Given the description of an element on the screen output the (x, y) to click on. 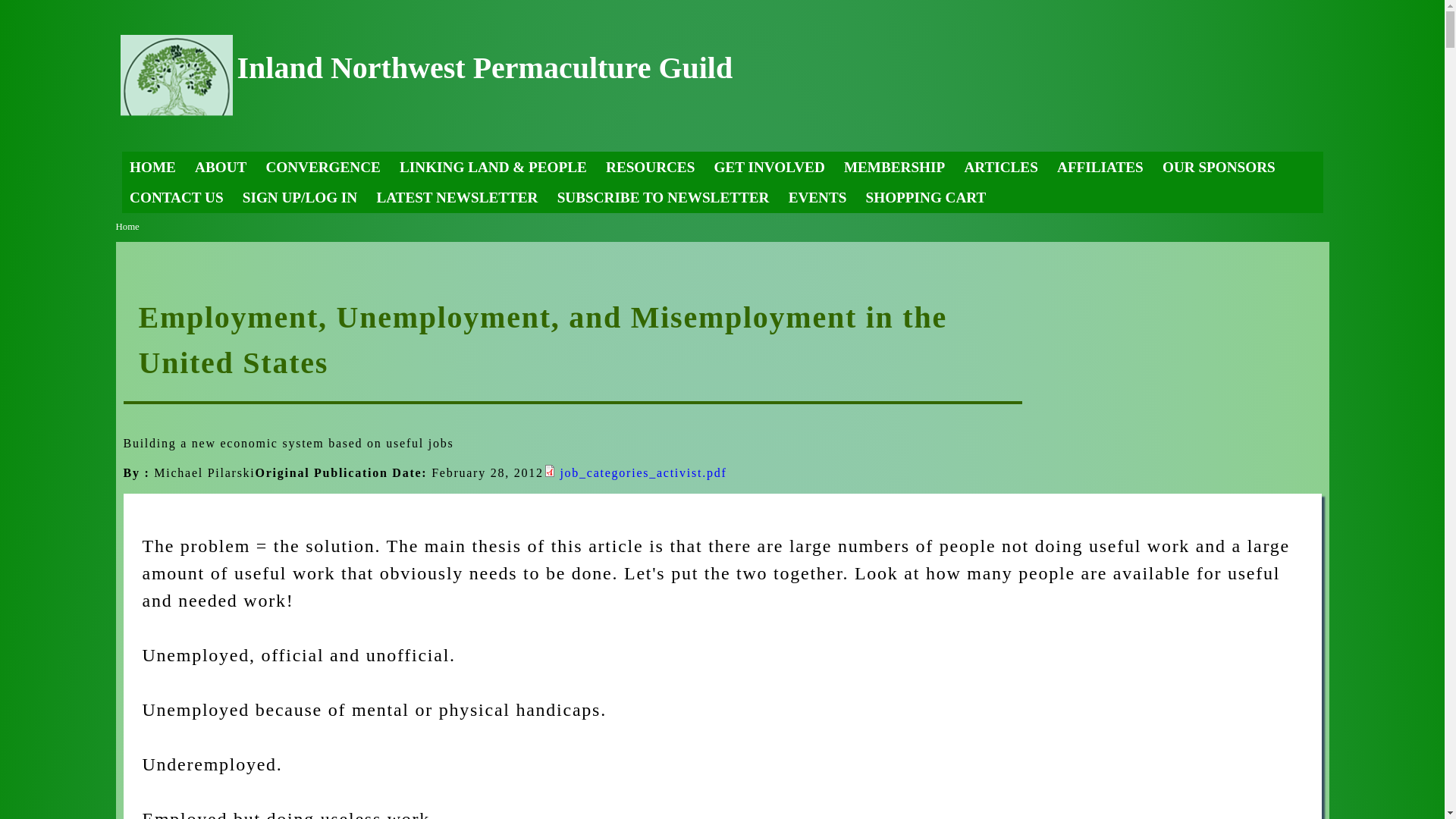
ABOUT (219, 166)
EVENTS (817, 196)
SUBSCRIBE TO NEWSLETTER (662, 196)
Inland Northwest Permaculture Guild (483, 67)
AFFILIATES (1099, 166)
OUR SPONSORS (1218, 166)
HOME (151, 166)
Home (483, 67)
Home (126, 226)
CONTACT US (175, 196)
